Given the description of an element on the screen output the (x, y) to click on. 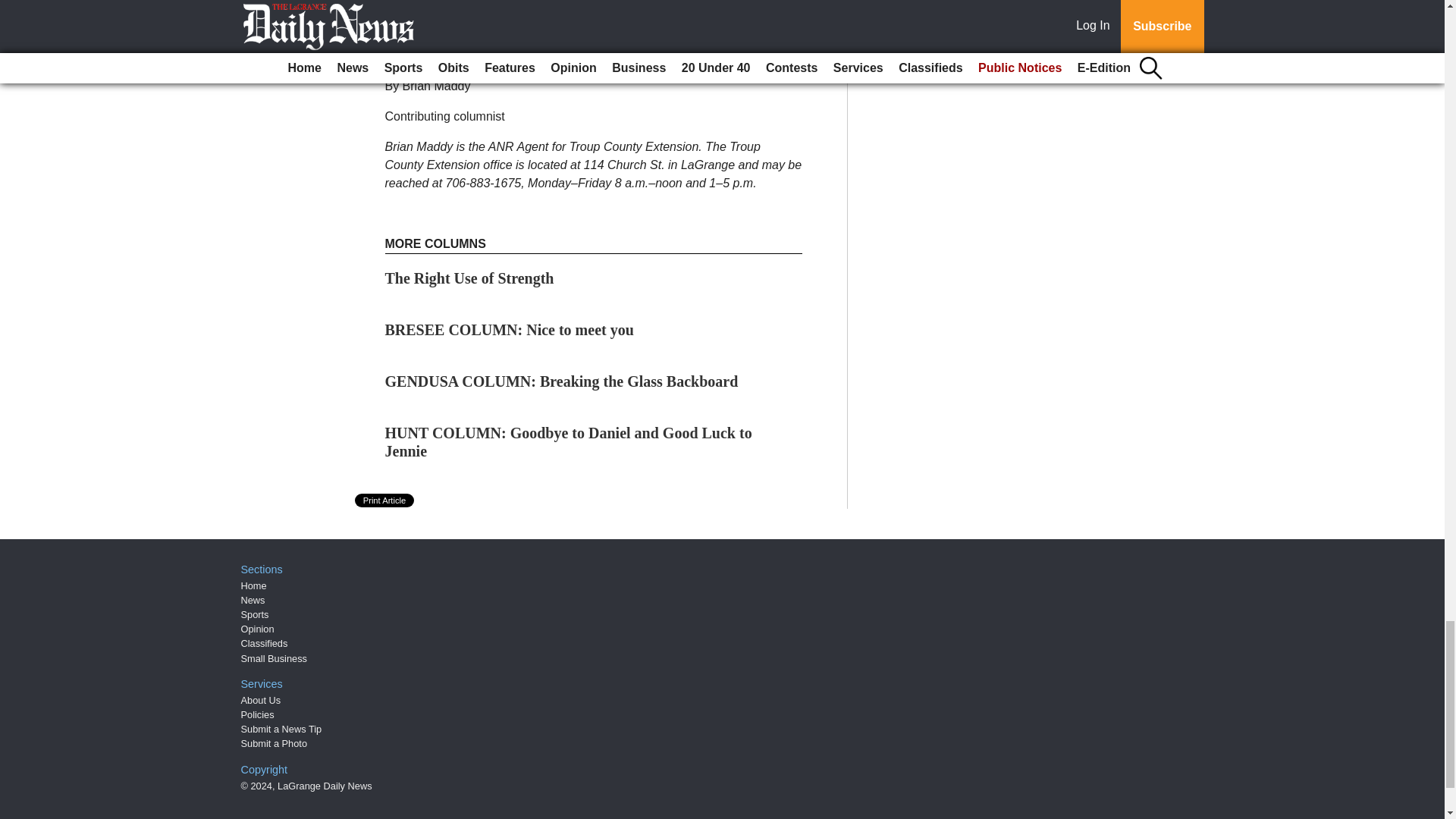
Classifieds (264, 643)
GENDUSA COLUMN: Breaking the Glass Backboard (561, 381)
HUNT COLUMN: Goodbye to Daniel and Good Luck to Jennie (568, 442)
BRESEE COLUMN: Nice to meet you (509, 329)
The Right Use of Strength (469, 278)
GENDUSA COLUMN: Breaking the Glass Backboard (561, 381)
The Right Use of Strength (469, 278)
BRESEE COLUMN: Nice to meet you (509, 329)
HUNT COLUMN: Goodbye to Daniel and Good Luck to Jennie (568, 442)
Opinion (258, 628)
Sports (255, 614)
News (252, 600)
Home (253, 585)
Print Article (384, 499)
